Given the description of an element on the screen output the (x, y) to click on. 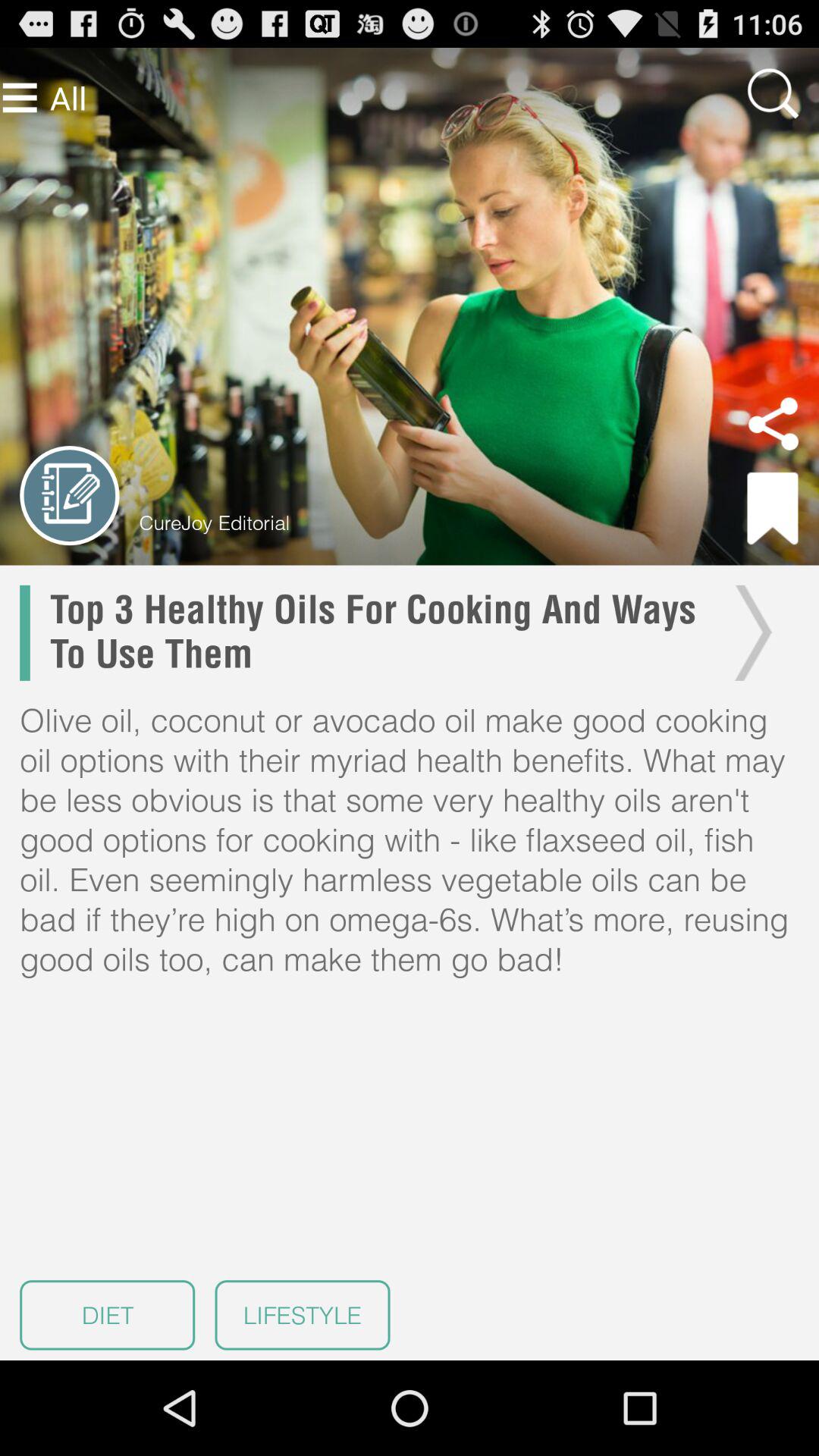
open the diet (107, 1315)
